Given the description of an element on the screen output the (x, y) to click on. 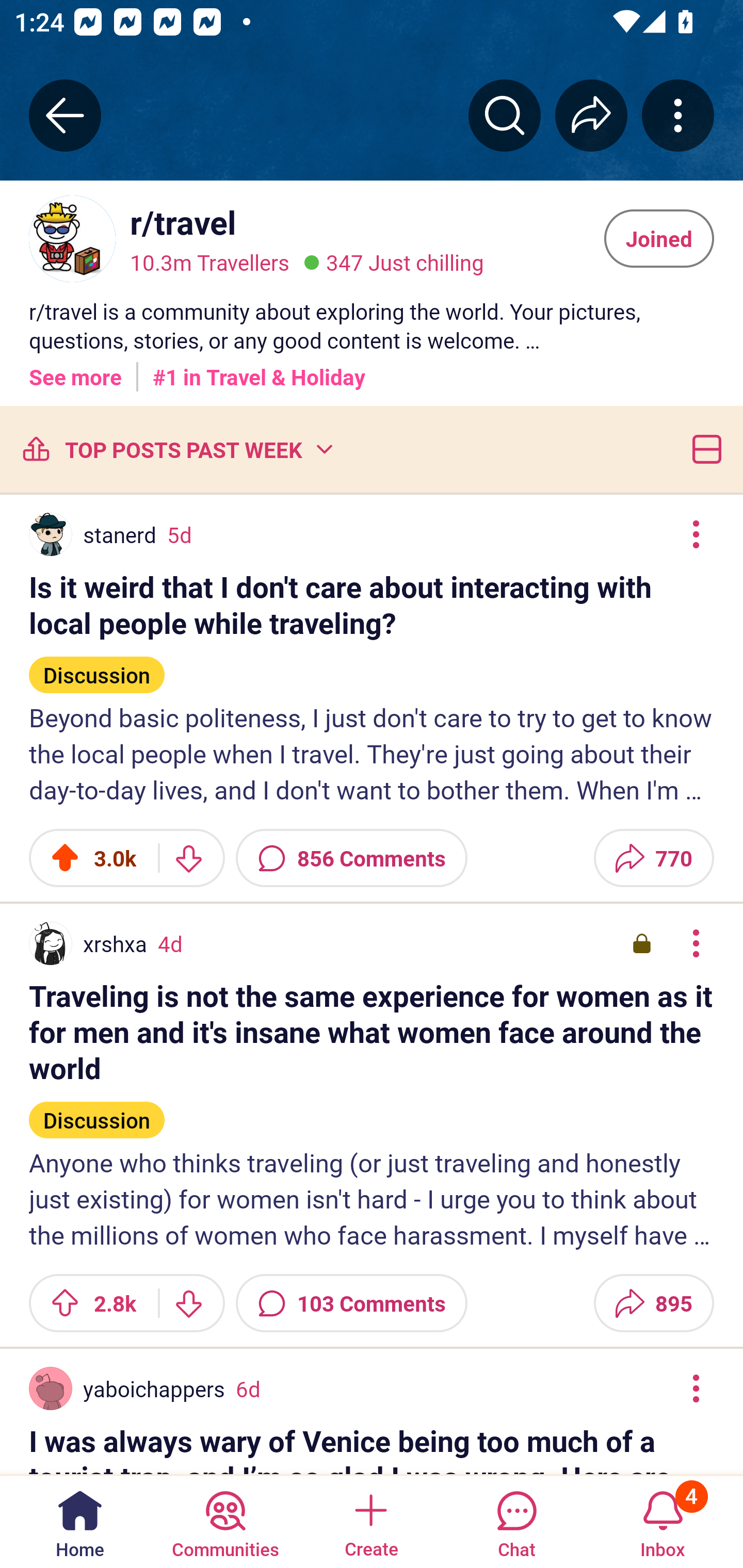
Back (64, 115)
Search r/﻿travel (504, 115)
Share r/﻿travel (591, 115)
More community actions (677, 115)
Top posts TOP POSTS PAST WEEK (176, 449)
Card (703, 449)
Discussion (96, 665)
Discussion (96, 1111)
Home (80, 1520)
Communities (225, 1520)
Create a post Create (370, 1520)
Chat (516, 1520)
Inbox, has 4 notifications 4 Inbox (662, 1520)
